Given the description of an element on the screen output the (x, y) to click on. 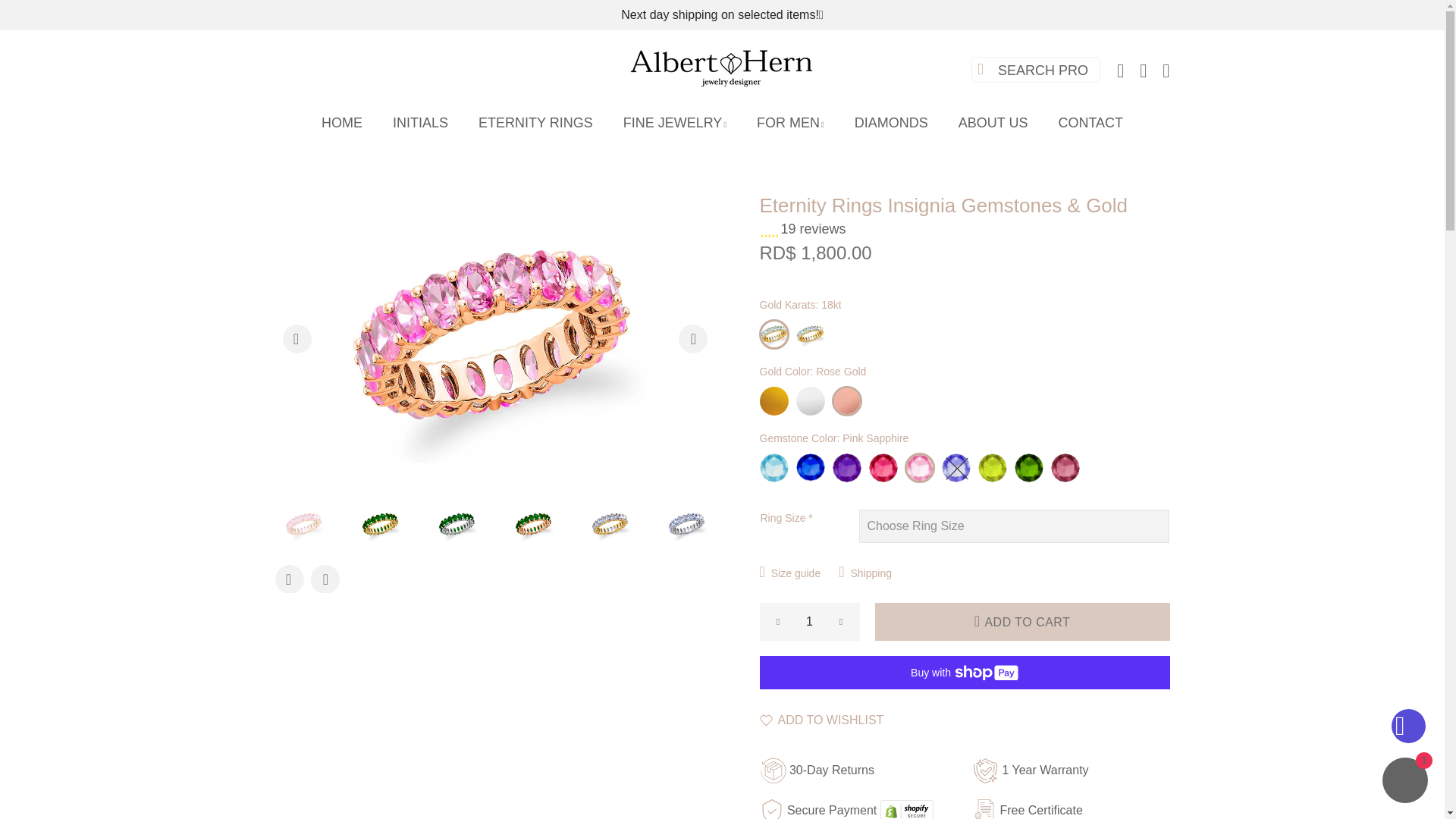
1 (810, 621)
This online store is secured by Shopify (906, 809)
Shopify online store chat (1404, 781)
